Given the description of an element on the screen output the (x, y) to click on. 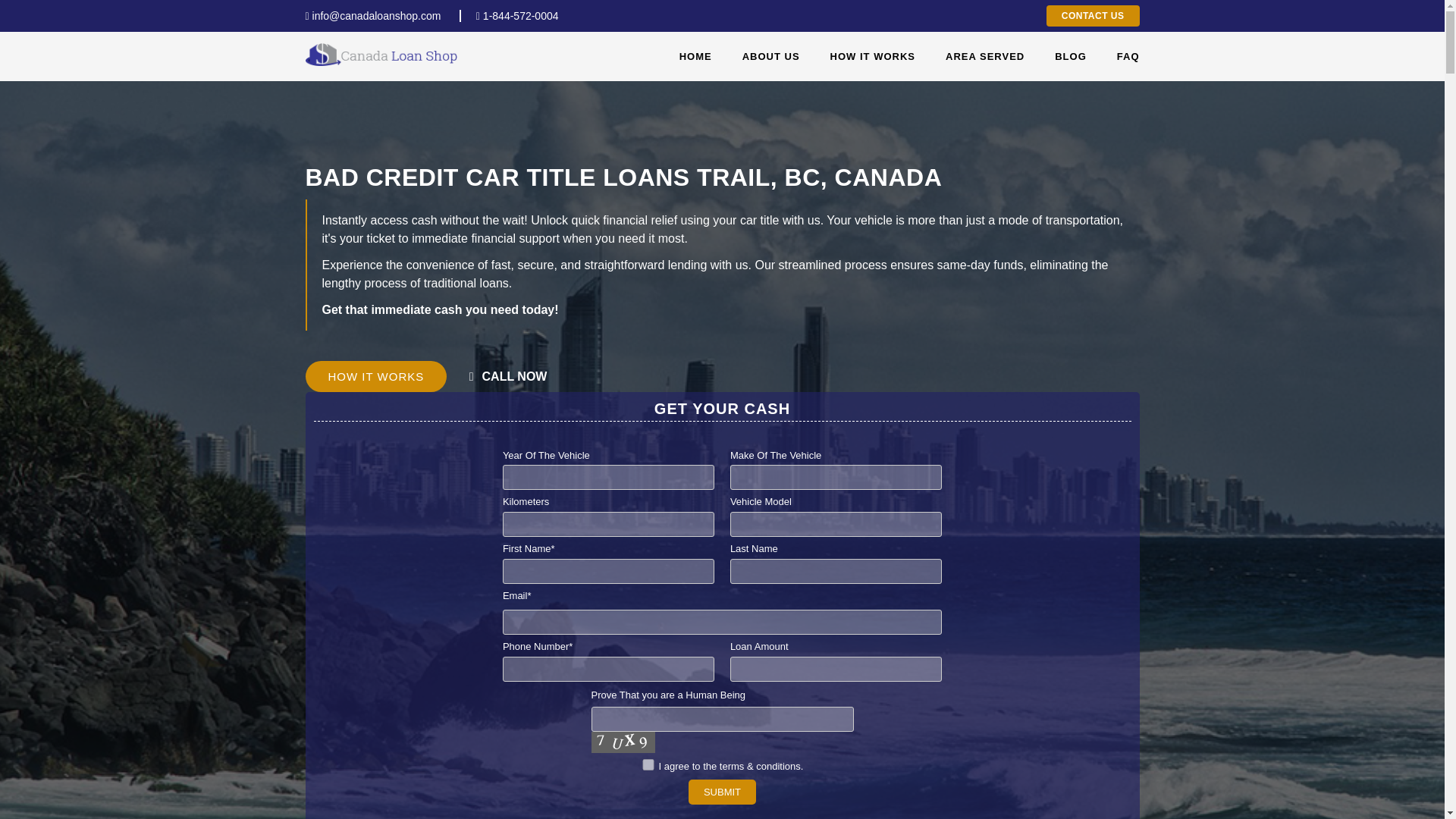
HOW IT WORKS (872, 56)
CONTACT US (1093, 15)
1-844-572-0004 (509, 15)
CALL NOW (507, 376)
ABOUT US (770, 56)
HOW IT WORKS (375, 376)
AREA SERVED (984, 56)
HOME (695, 56)
Submit (721, 791)
Submit (721, 791)
BLOG (1070, 56)
1 (648, 764)
